Given the description of an element on the screen output the (x, y) to click on. 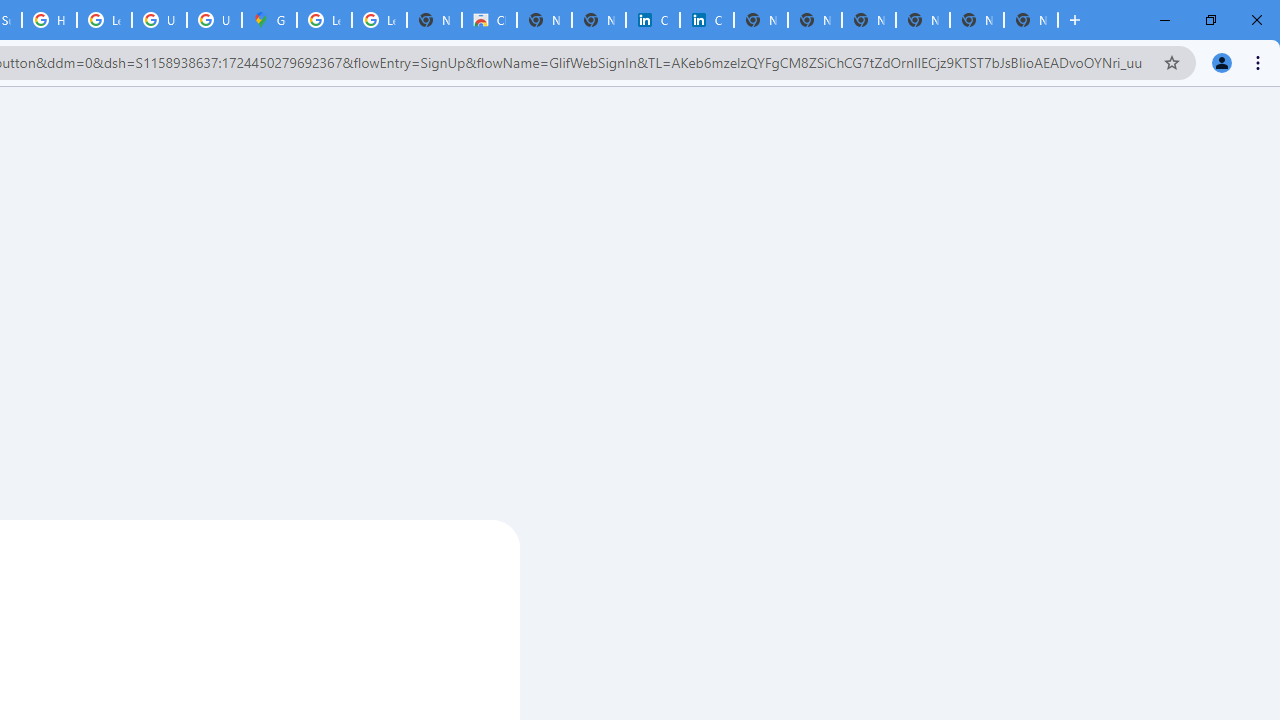
How Chrome protects your passwords - Google Chrome Help (48, 20)
Chrome Web Store (489, 20)
Cookie Policy | LinkedIn (652, 20)
Google Maps (268, 20)
